Given the description of an element on the screen output the (x, y) to click on. 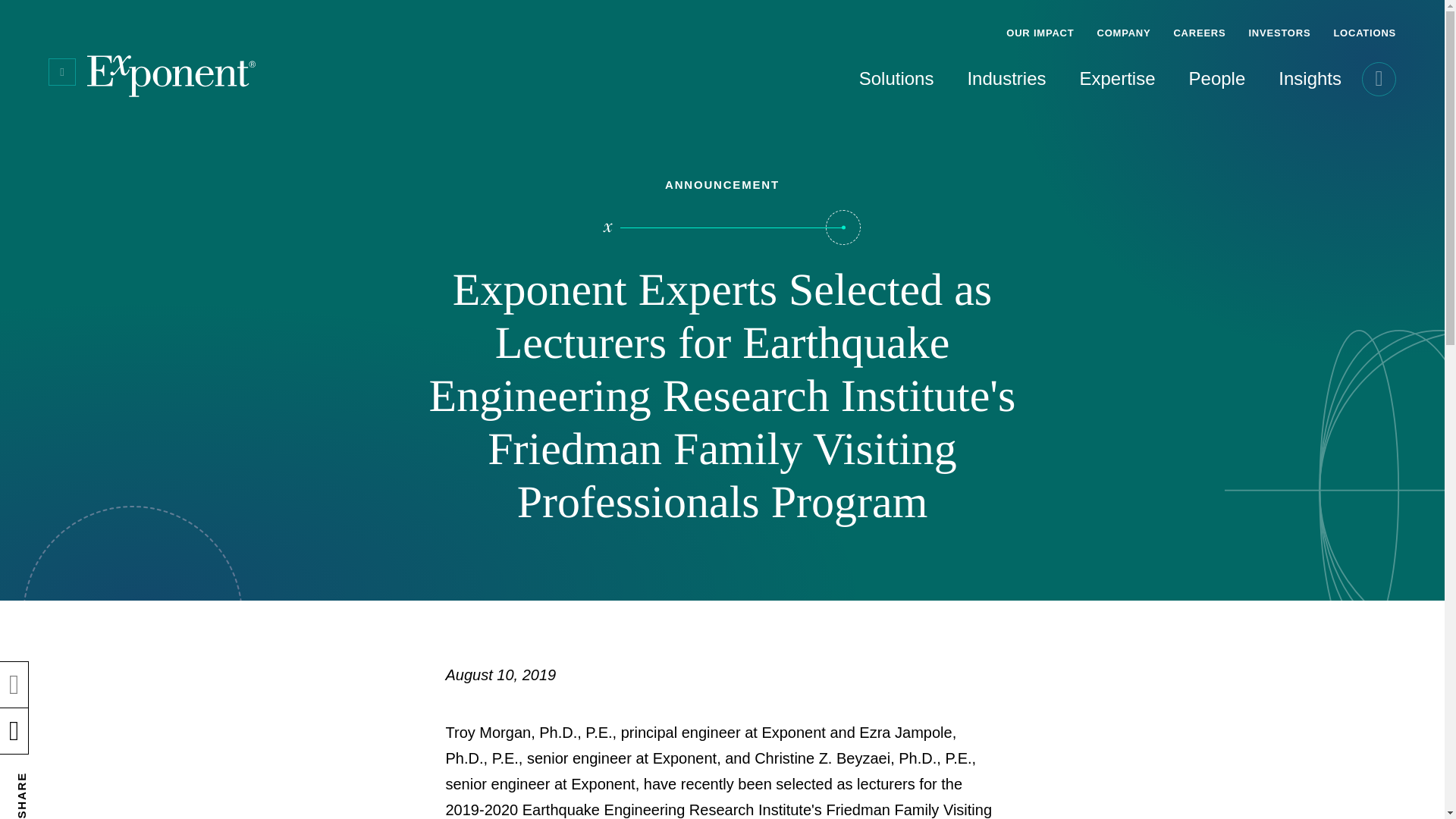
INVESTORS (1279, 22)
Skip to main content (12, 12)
Solutions (866, 83)
LOCATIONS (1359, 22)
OUR IMPACT (1039, 22)
CAREERS (1198, 22)
COMPANY (1122, 22)
Exponent (171, 76)
